Given the description of an element on the screen output the (x, y) to click on. 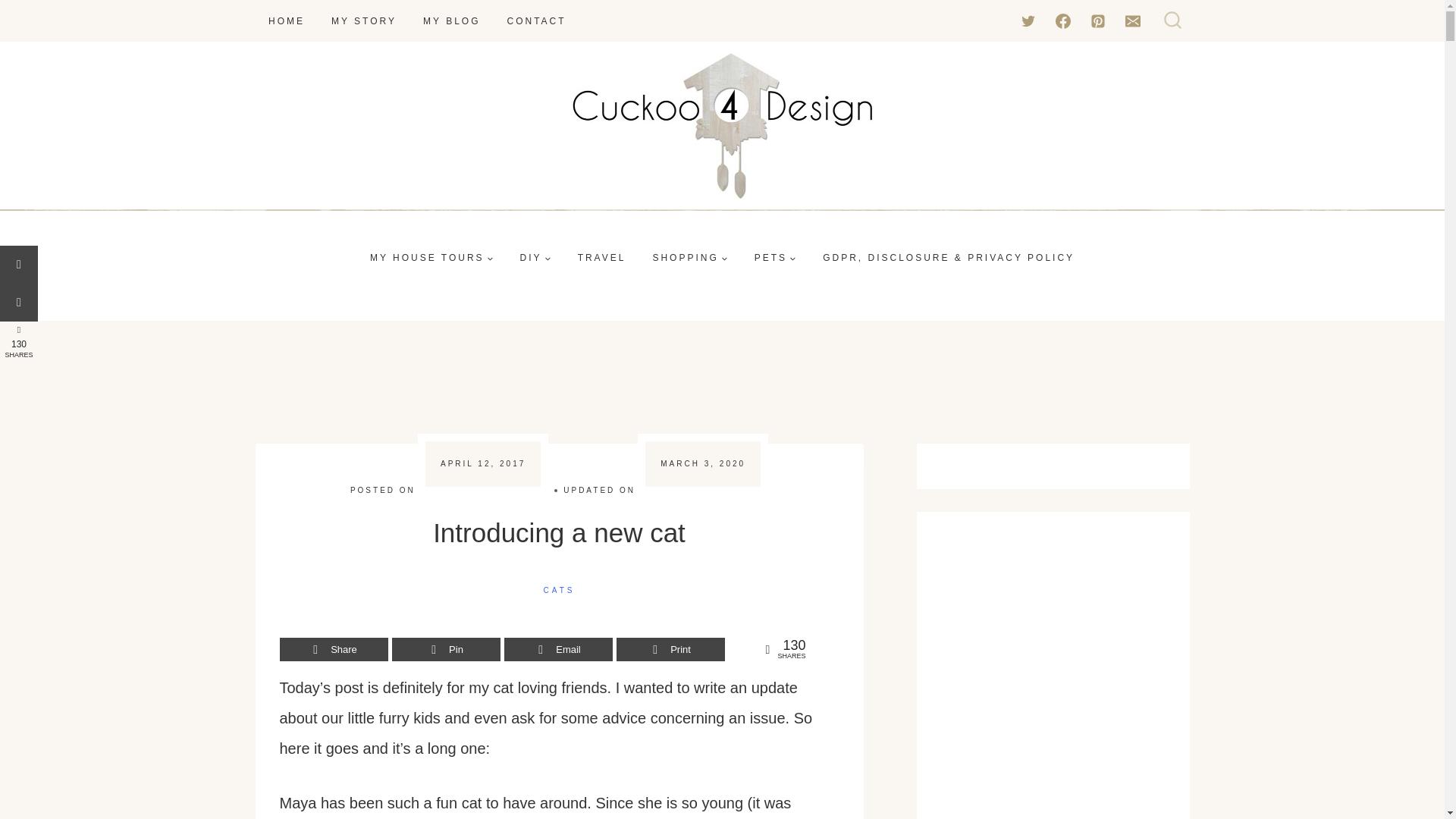
MY BLOG (451, 20)
MY HOUSE TOURS (431, 257)
TRAVEL (601, 257)
HOME (285, 20)
DIY (535, 257)
SHOPPING (690, 257)
MY STORY (364, 20)
CONTACT (536, 20)
